Given the description of an element on the screen output the (x, y) to click on. 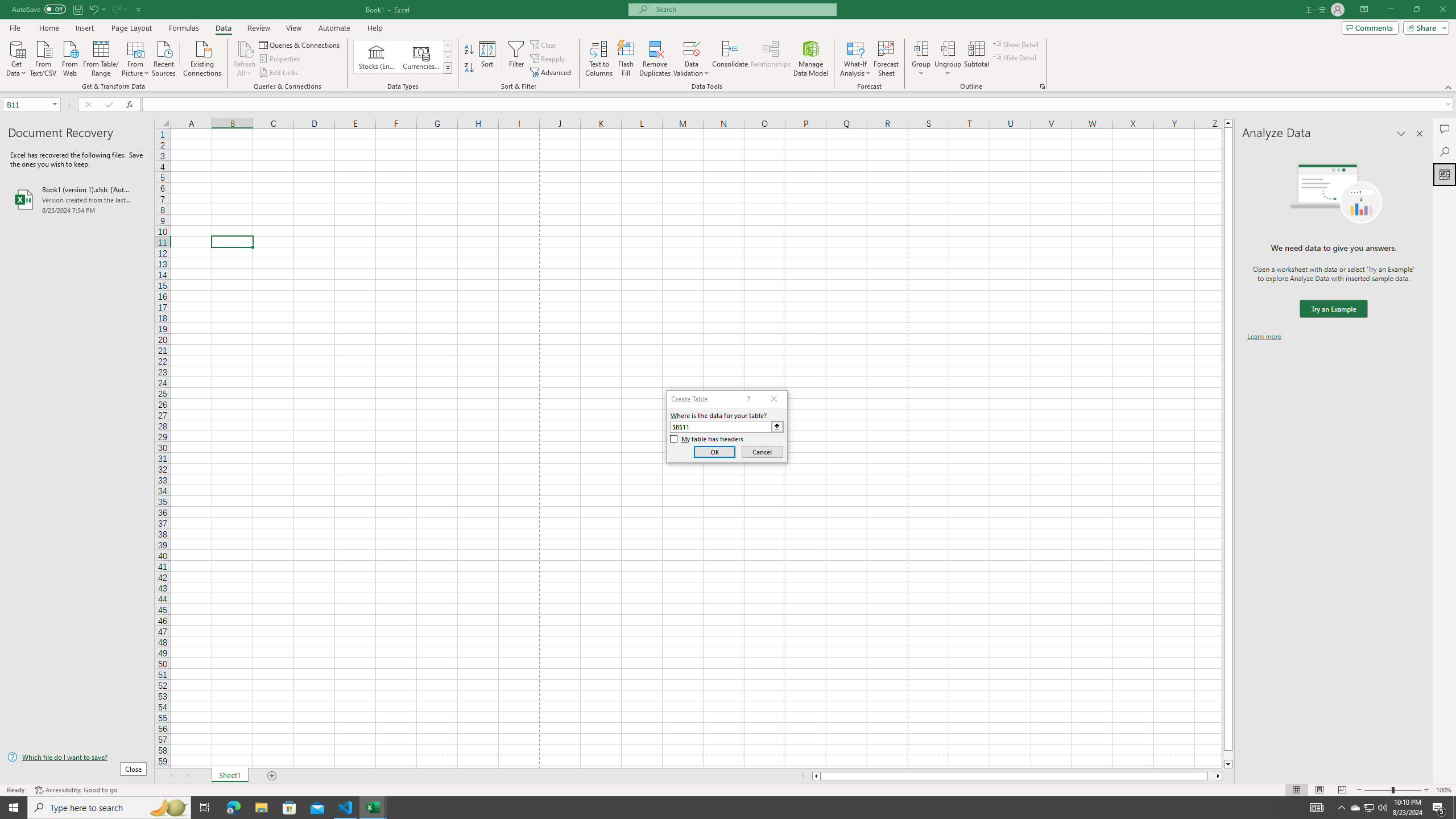
Add Sheet (272, 775)
Undo (92, 9)
Page Break Preview (1342, 790)
Close (1442, 9)
Zoom (1392, 790)
Edit Links (279, 72)
Data Validation... (691, 58)
Forecast Sheet (885, 58)
Remove Duplicates (654, 58)
Ungroup... (947, 48)
Search (1444, 151)
Automate (334, 28)
Open (54, 104)
Accessibility Checker Accessibility: Good to go (76, 790)
Name Box (30, 104)
